Given the description of an element on the screen output the (x, y) to click on. 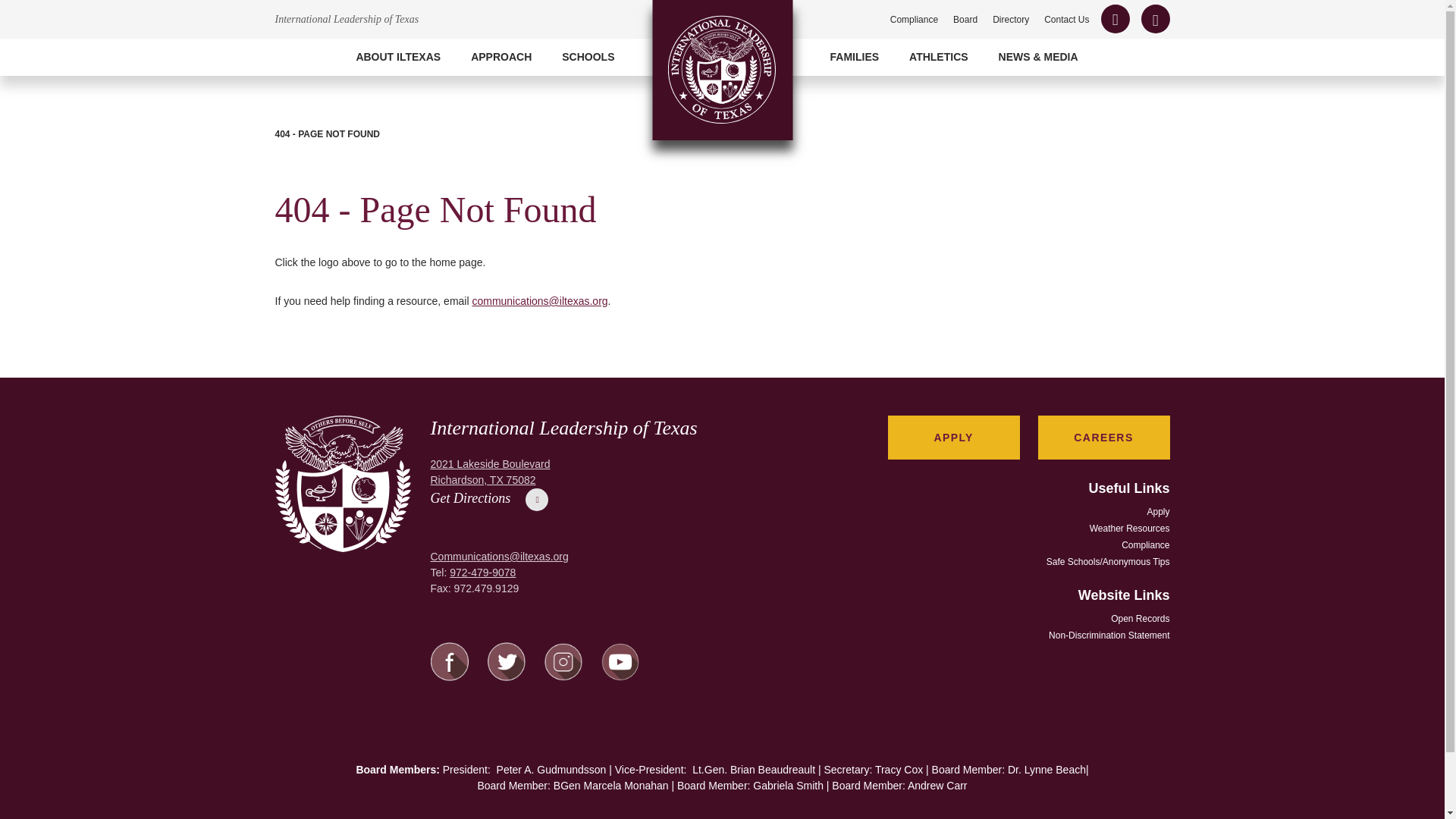
ILTexas Instagram (563, 676)
ILTexas Twitter (505, 677)
ILTexas Facebook (449, 677)
ILTexas Youtube (619, 676)
